Given the description of an element on the screen output the (x, y) to click on. 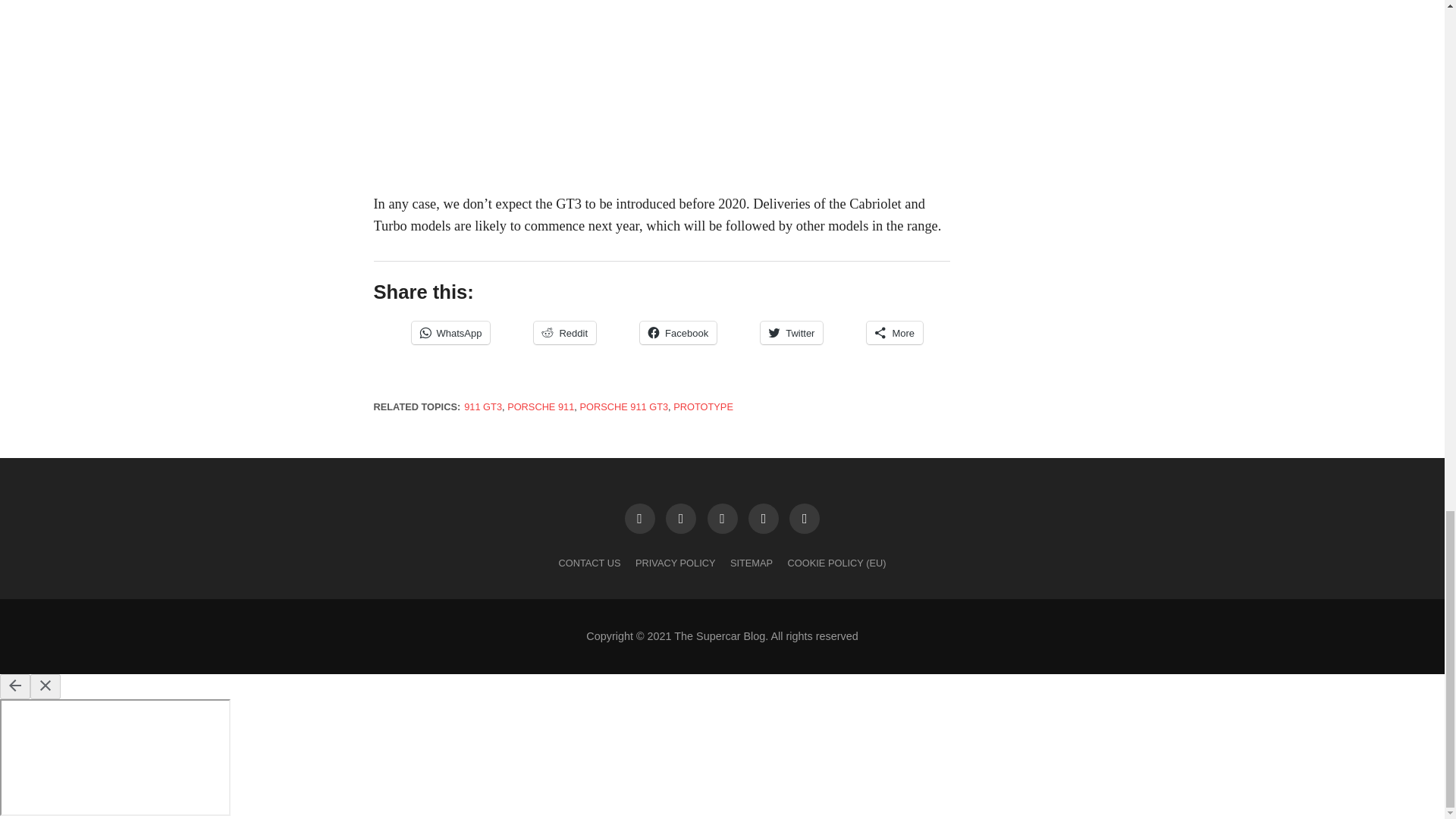
Facebook (678, 332)
PROTOTYPE (702, 406)
Click to share on Twitter (791, 332)
WhatsApp (449, 332)
Click to share on WhatsApp (449, 332)
Click to share on Facebook (678, 332)
More (894, 332)
PORSCHE 911 GT3 (623, 406)
PORSCHE 911 (539, 406)
Click to share on Reddit (564, 332)
